Given the description of an element on the screen output the (x, y) to click on. 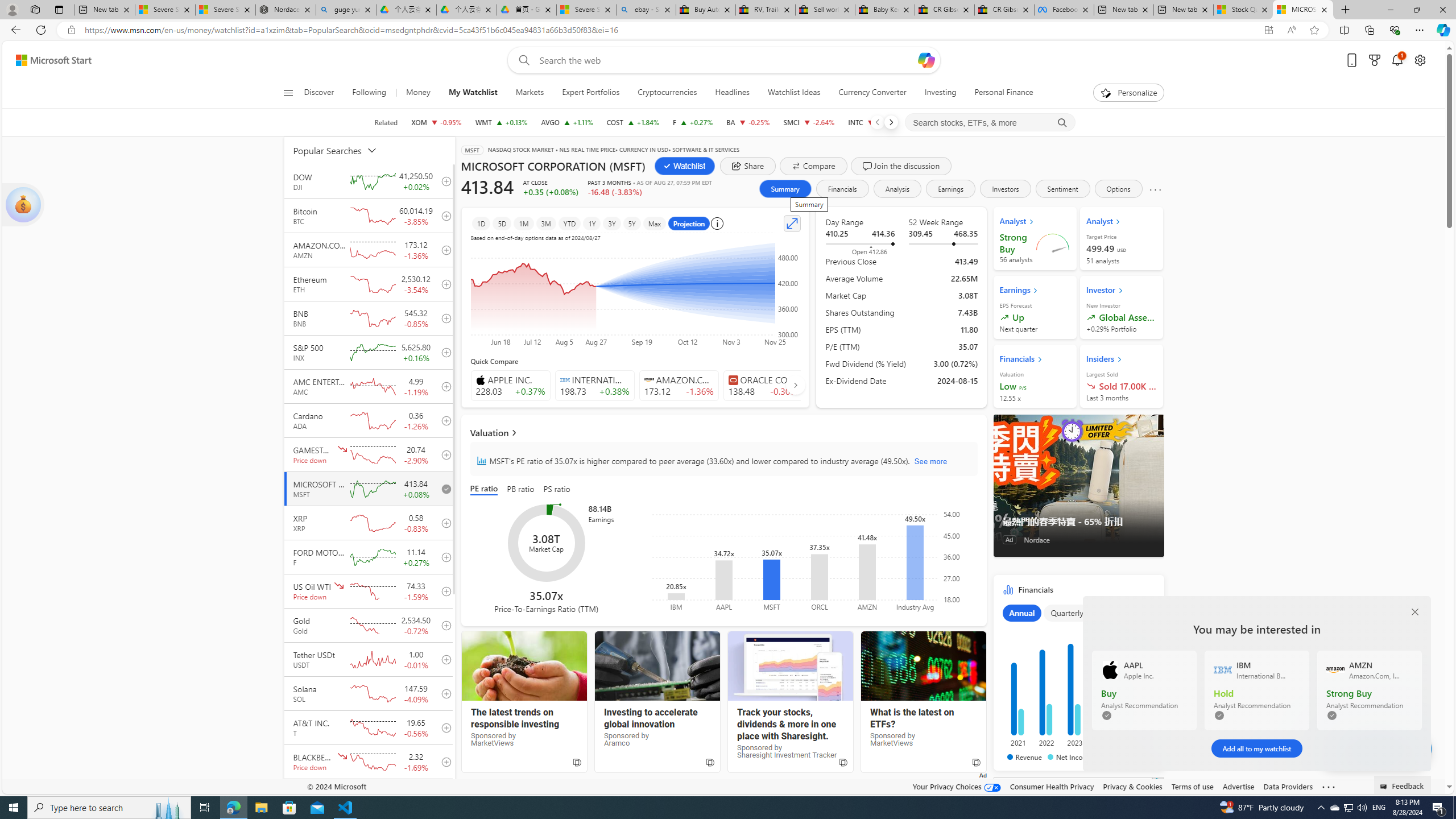
App available. Install Start Money (1268, 29)
Skip to footer (46, 59)
Refresh (40, 29)
Class: card_head_icon_lightMode-DS-EntryPoint1-1 (1119, 358)
Microsoft rewards (1374, 60)
New Tab (1346, 9)
See more (1328, 787)
Search stocks, ETFs, & more (989, 122)
5Y (631, 223)
Options (1118, 188)
Valuation (723, 432)
F FORD MOTOR COMPANY increase 11.14 +0.03 +0.27% (692, 122)
Collections (1369, 29)
